Given the description of an element on the screen output the (x, y) to click on. 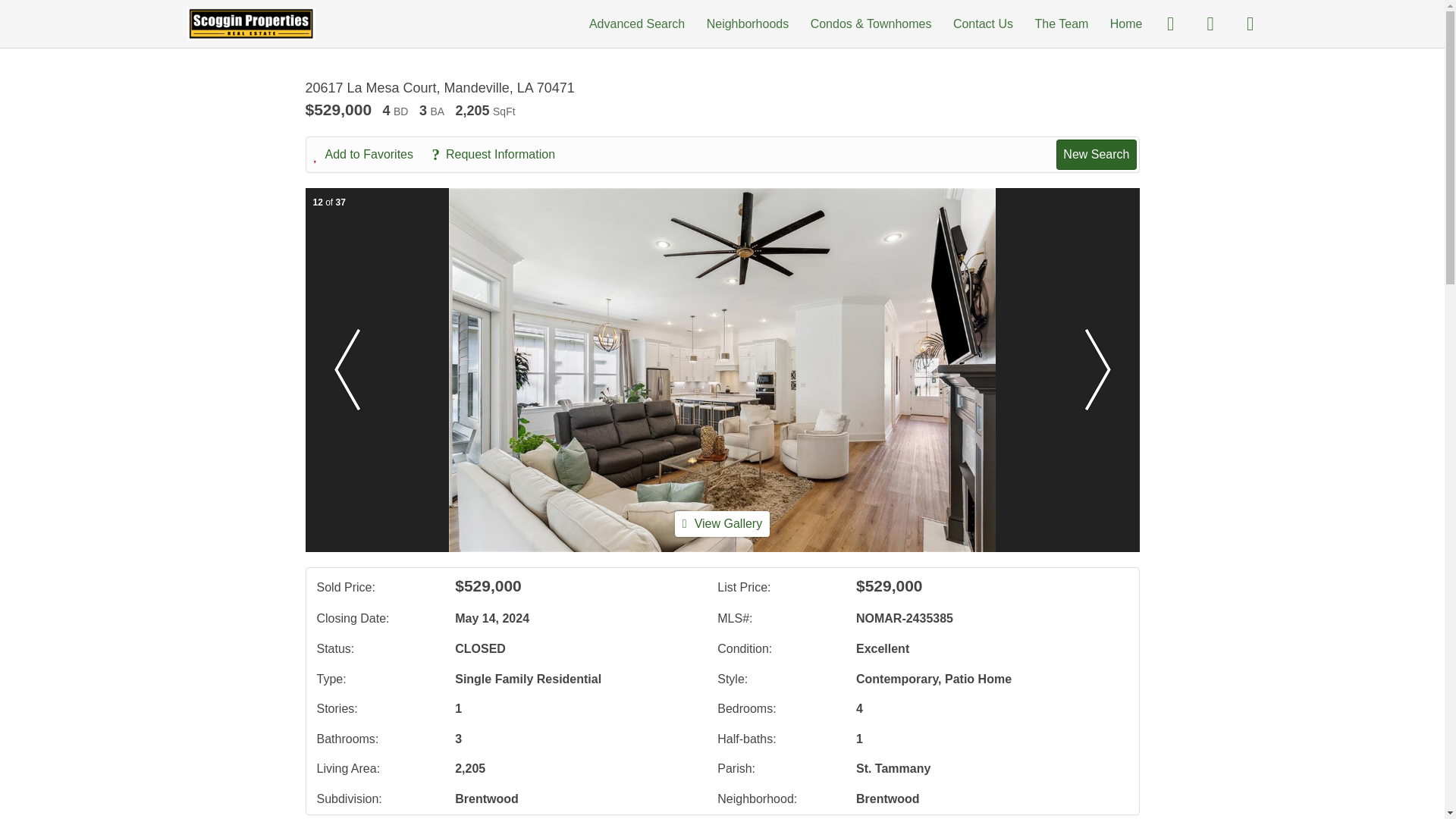
Contact by Phone (1209, 22)
View Gallery (722, 524)
Contact Us (983, 23)
Request Information (500, 154)
Neighborhoods (747, 23)
The Team (1060, 23)
Advanced Search (636, 23)
Open contact form (1170, 22)
View Gallery (722, 522)
Login or Signup (1249, 22)
Add to Favorites (371, 154)
Home (1125, 23)
New Search (1096, 154)
